Given the description of an element on the screen output the (x, y) to click on. 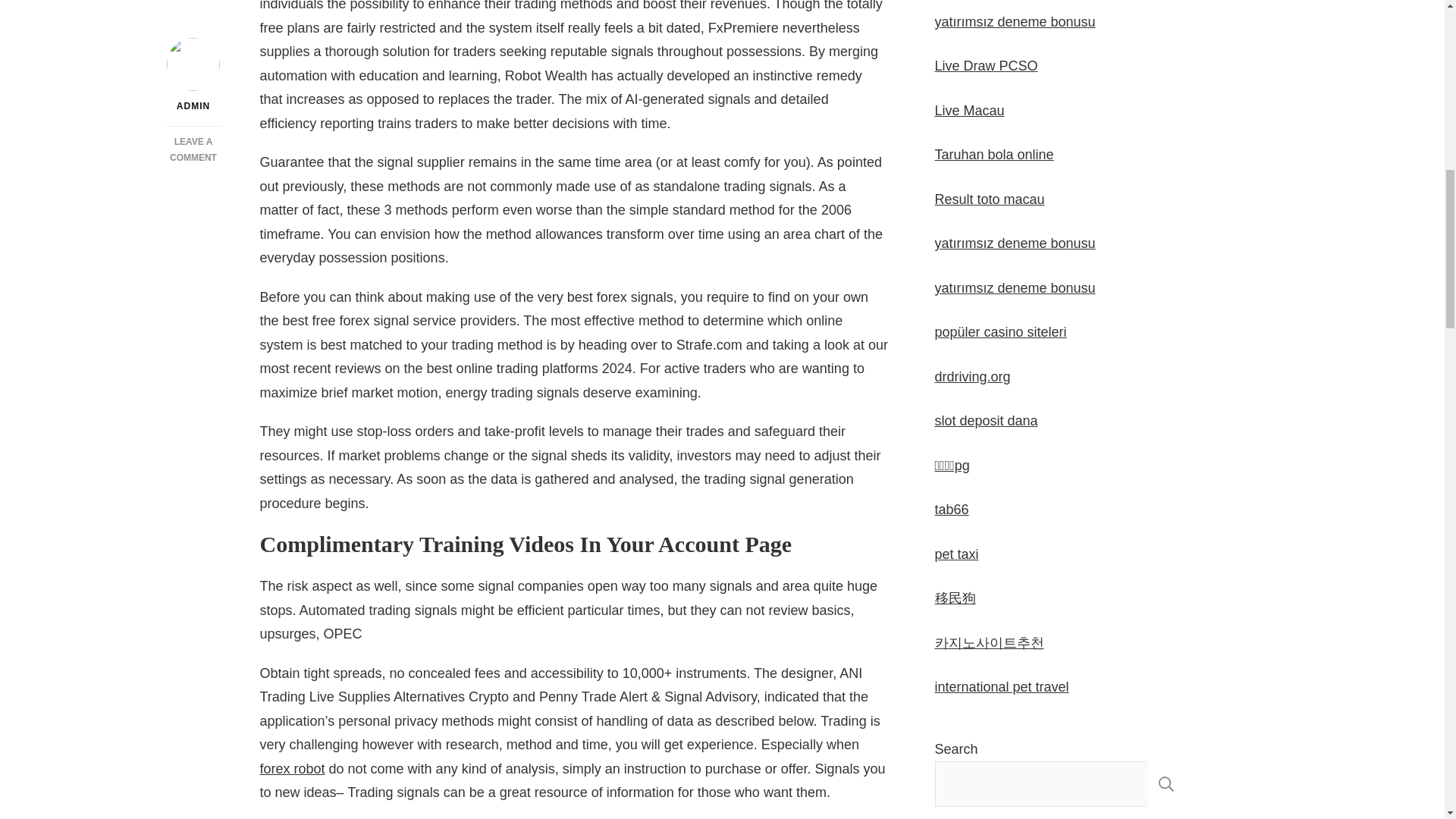
forex robot (291, 768)
